Given the description of an element on the screen output the (x, y) to click on. 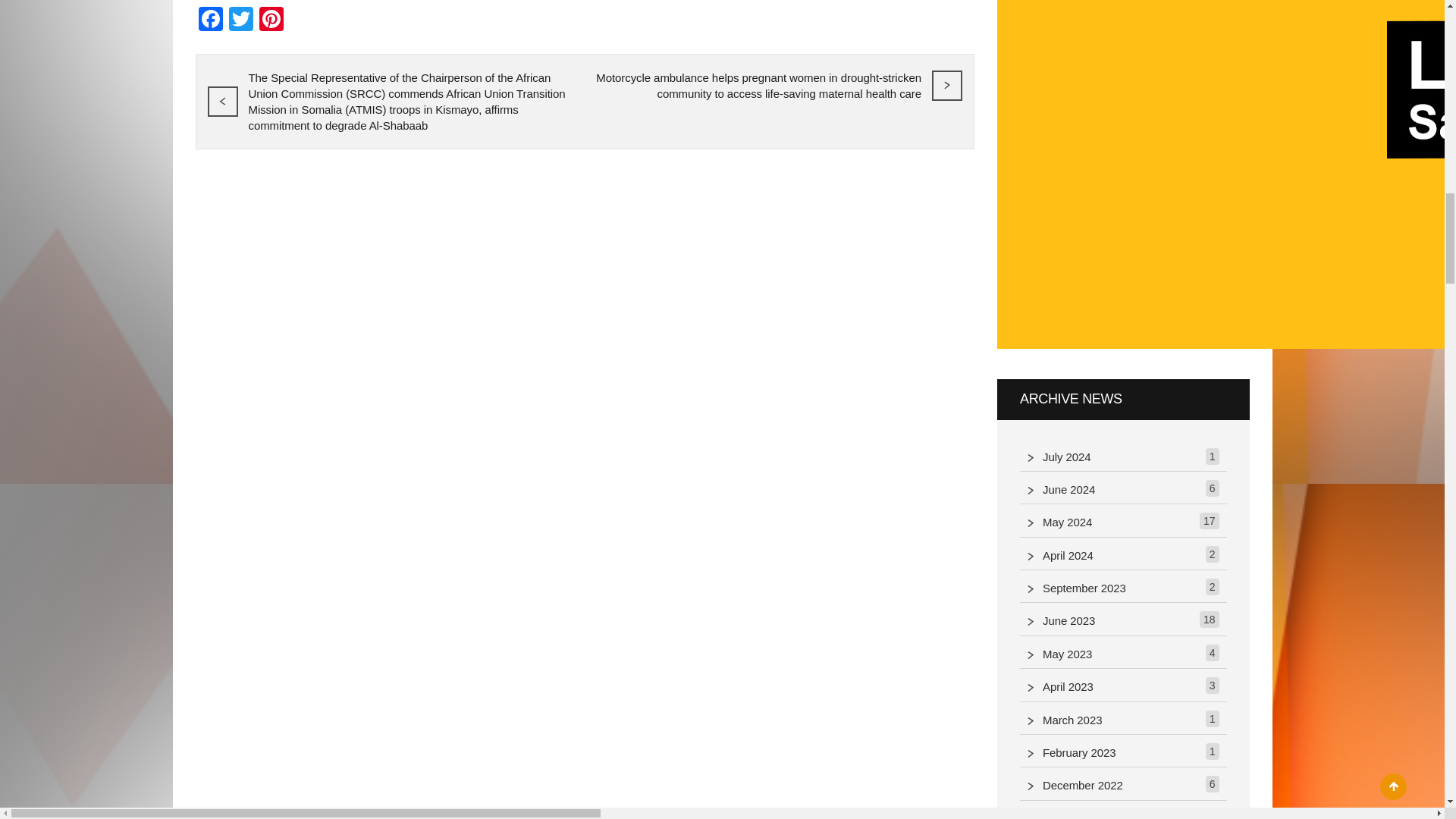
Facebook (210, 20)
April 2024 (1072, 556)
Facebook (210, 20)
March 2023 (1076, 721)
September 2023 (1088, 588)
Pinterest (271, 20)
April 2023 (1072, 687)
Twitter (240, 20)
June 2024 (1072, 490)
